Given the description of an element on the screen output the (x, y) to click on. 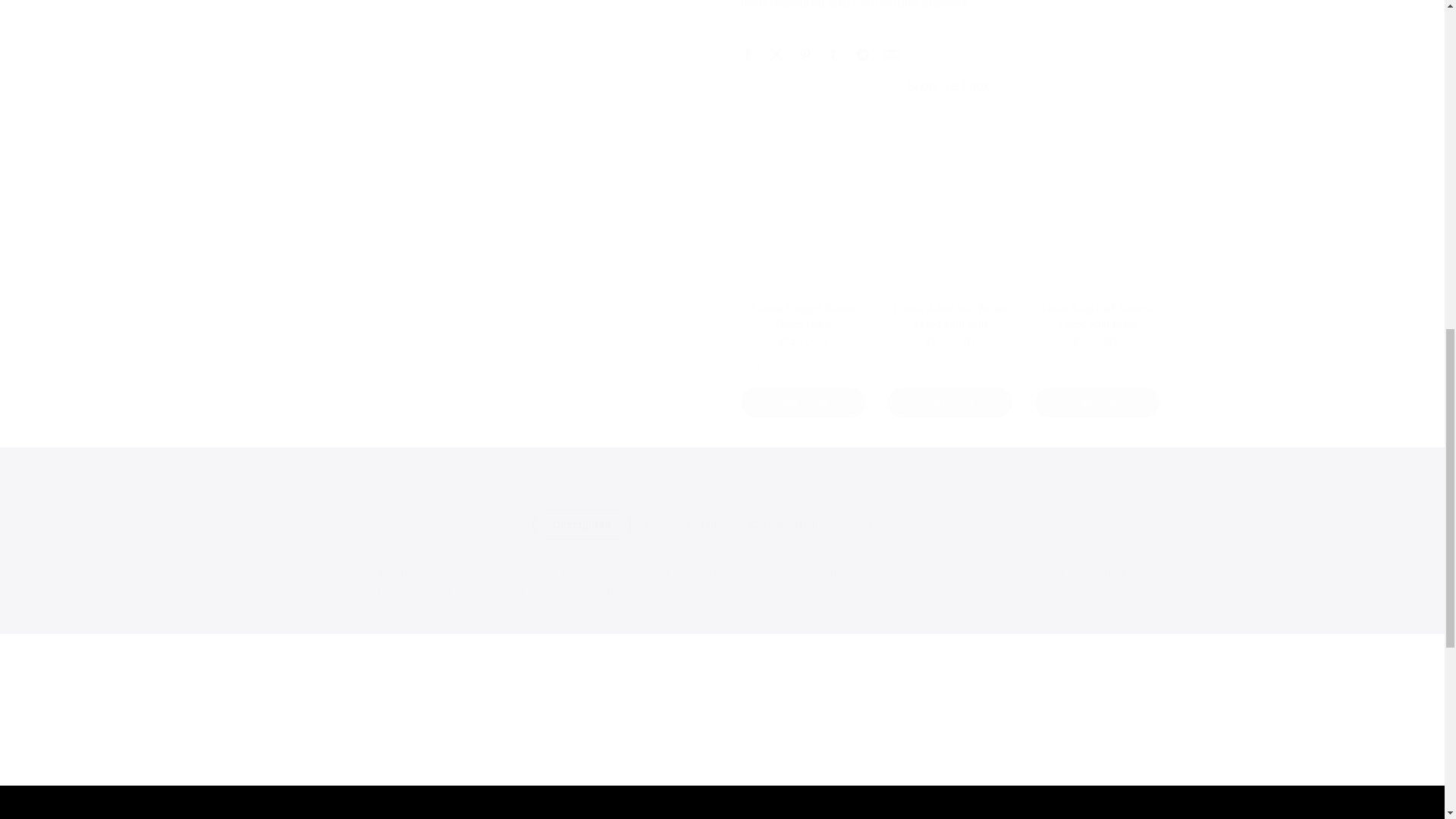
Share on Telegram (862, 54)
Share on Facebook (746, 54)
Share on Pinterest (803, 54)
Share on Email (890, 54)
Share on Tumblr (833, 54)
Share on Twitter (775, 54)
